Given the description of an element on the screen output the (x, y) to click on. 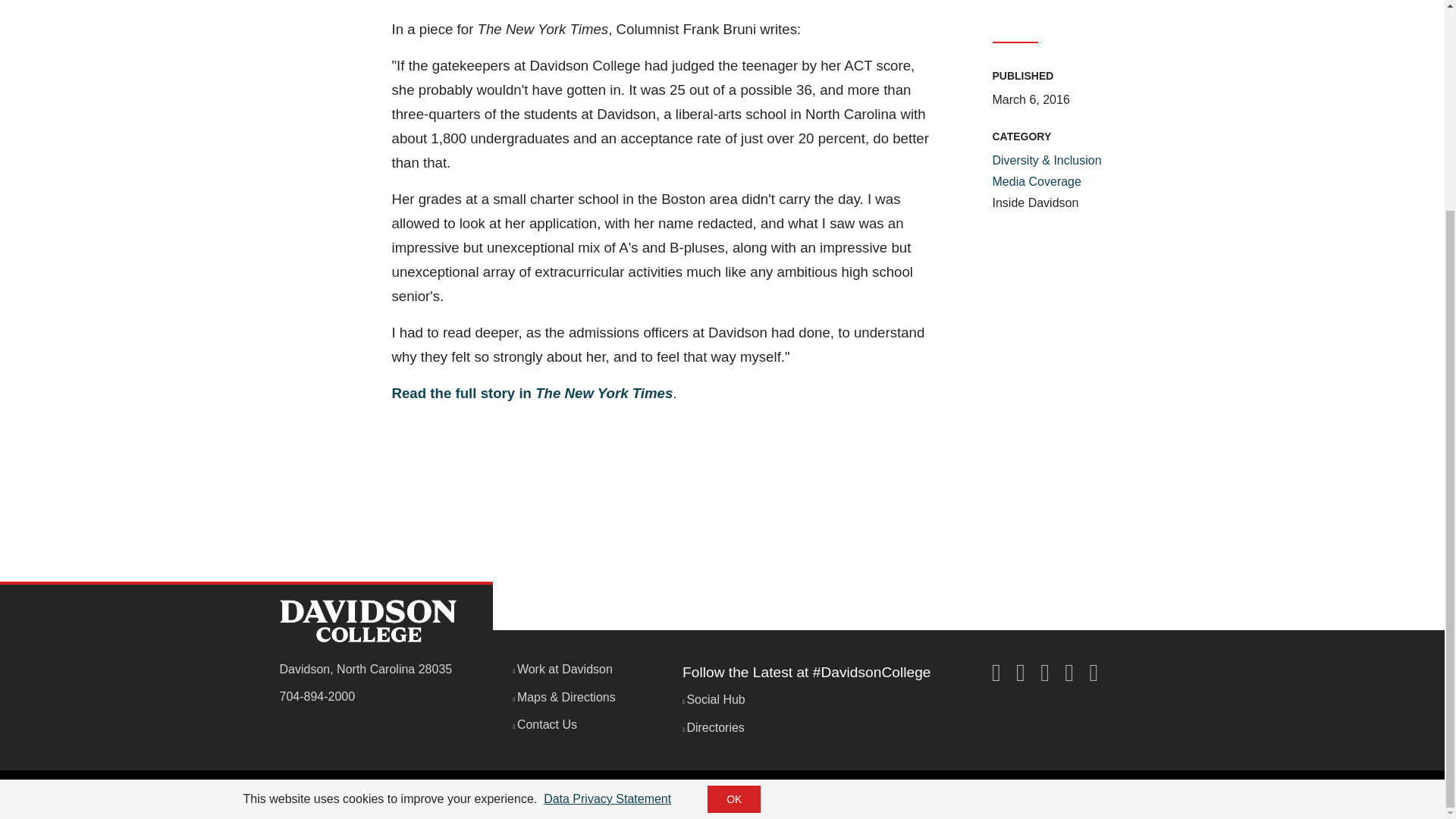
Contact Us (544, 724)
OK (733, 524)
Social Hub (713, 698)
Media Coverage (1035, 181)
Privacy Policy (424, 794)
Policy Library (682, 794)
704-894-2000 (317, 696)
Davidson College Homepage (367, 620)
Terms of Service (516, 794)
Accessibility (603, 794)
Work at Davidson (562, 668)
Data Privacy Statement (607, 524)
Directories (713, 727)
Data Privacy Statement (607, 524)
Read the full story in The New York Times (531, 392)
